Given the description of an element on the screen output the (x, y) to click on. 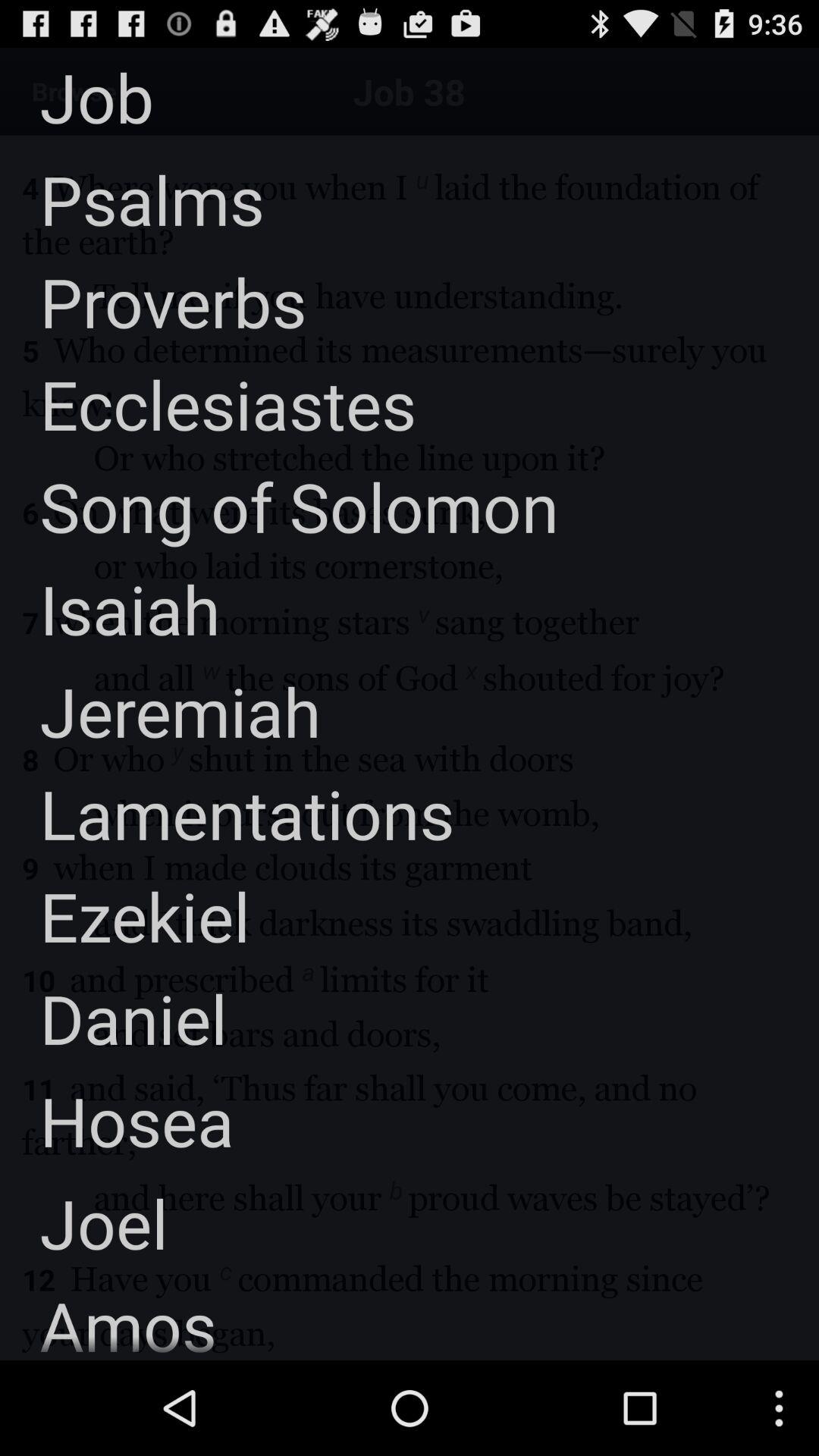
choose the app below the proverbs item (208, 403)
